Given the description of an element on the screen output the (x, y) to click on. 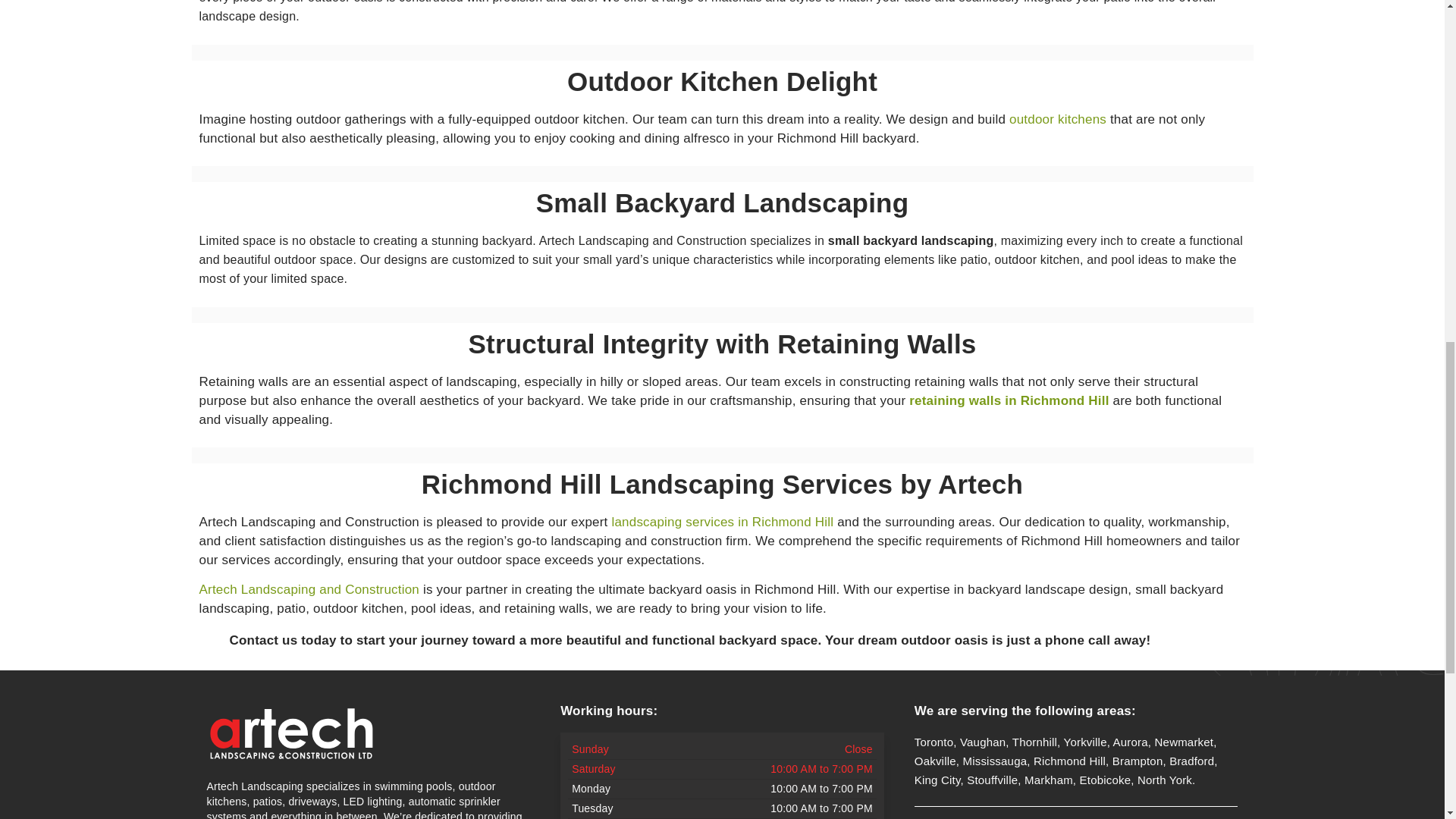
Landscaping in Toronto (308, 589)
outdoor kitchens ideas (1057, 119)
